Given the description of an element on the screen output the (x, y) to click on. 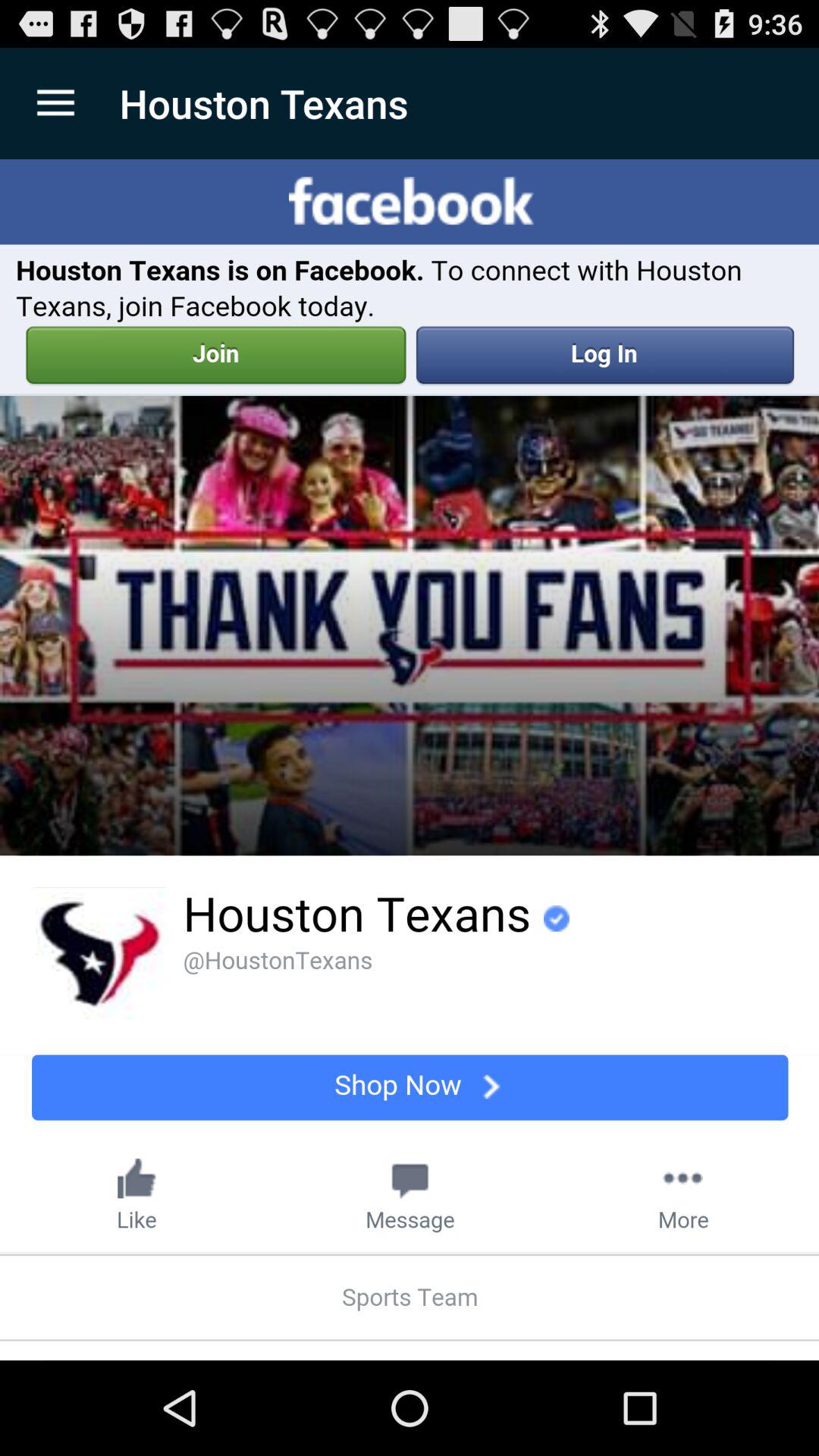
see an image (409, 759)
